Given the description of an element on the screen output the (x, y) to click on. 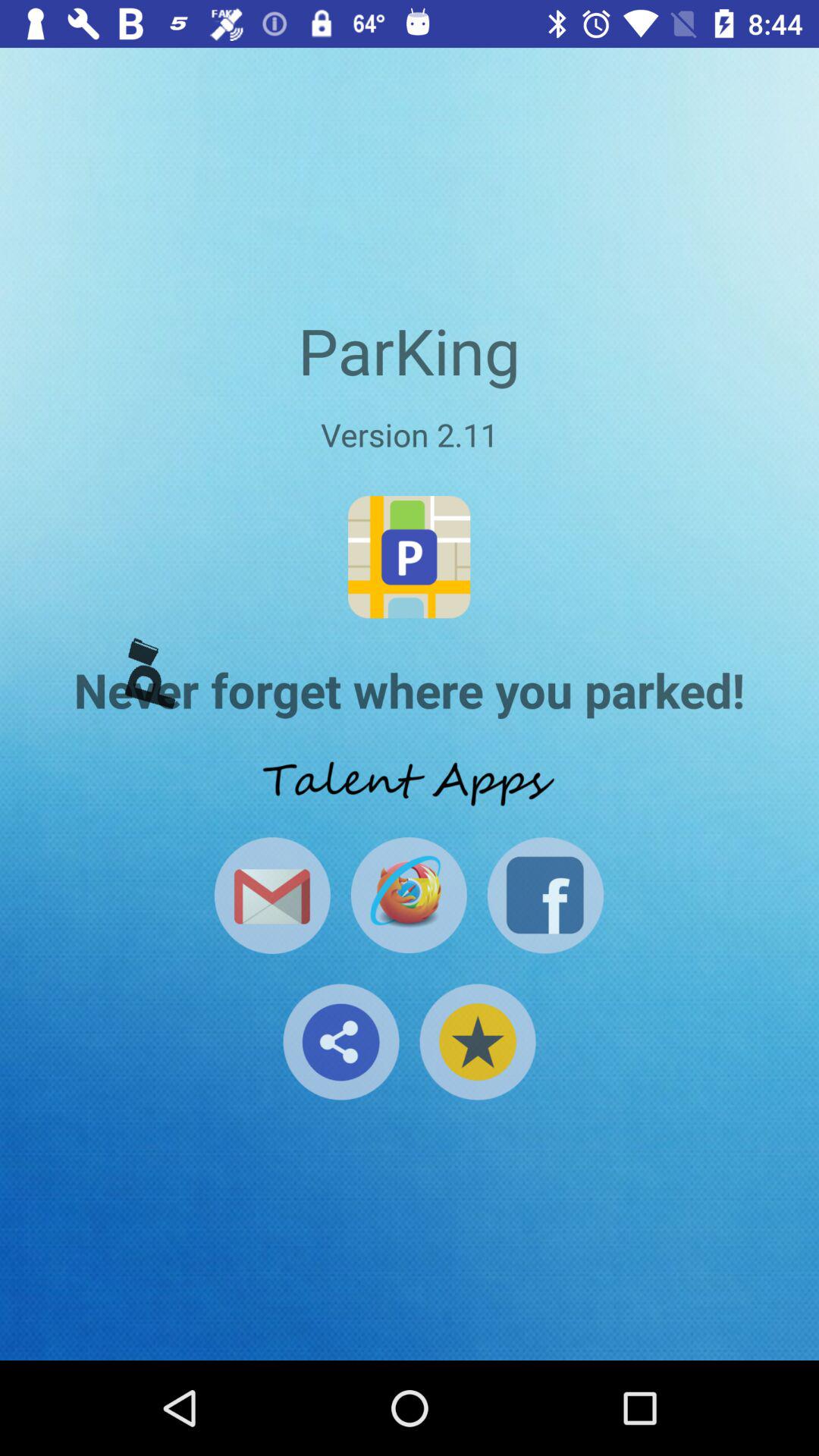
set as favorite (477, 1041)
